Given the description of an element on the screen output the (x, y) to click on. 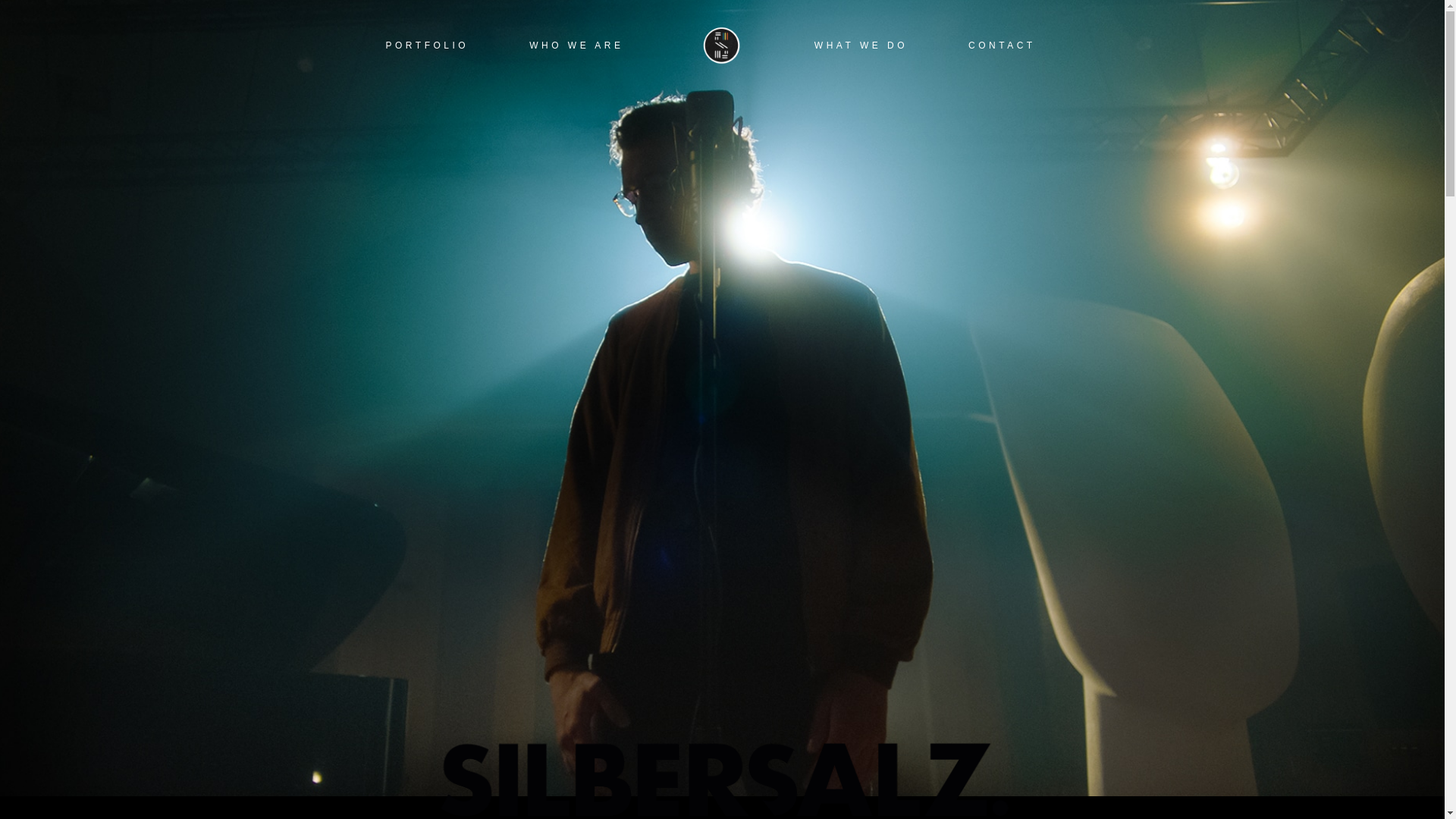
PORTFOLIO (427, 45)
WHAT WE DO (860, 45)
CONTACT (1001, 45)
WHO WE ARE (576, 45)
